Given the description of an element on the screen output the (x, y) to click on. 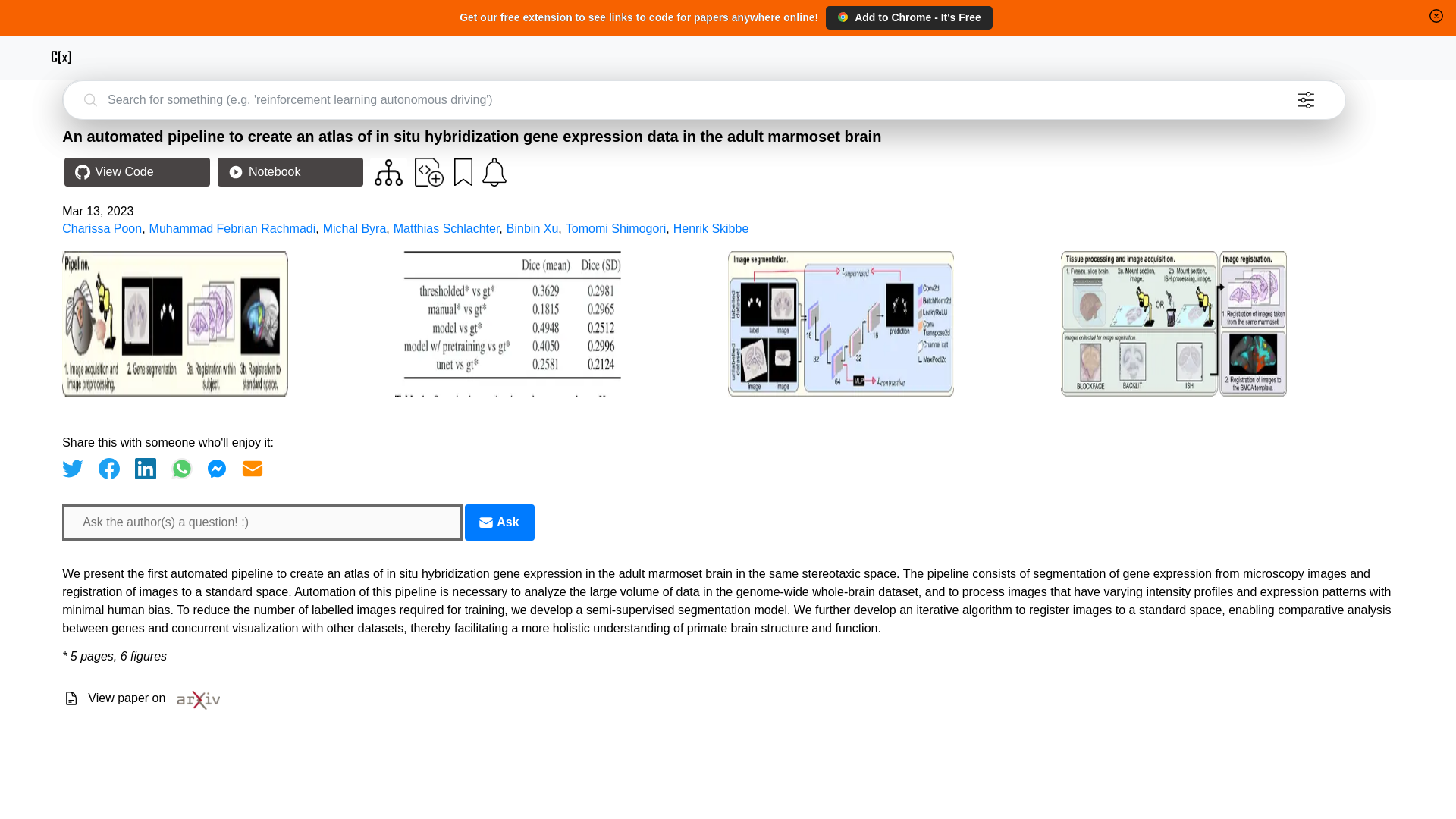
Binbin Xu (532, 228)
Email Icon Ask (499, 522)
Henrik Skibbe (710, 228)
View Code (136, 172)
Charissa Poon (101, 228)
Share via Email (252, 468)
Contribute your code for this paper to the community (429, 172)
Matthias Schlachter (446, 228)
Muhammad Febrian Rachmadi (232, 228)
Tomomi Shimogori (615, 228)
